Given the description of an element on the screen output the (x, y) to click on. 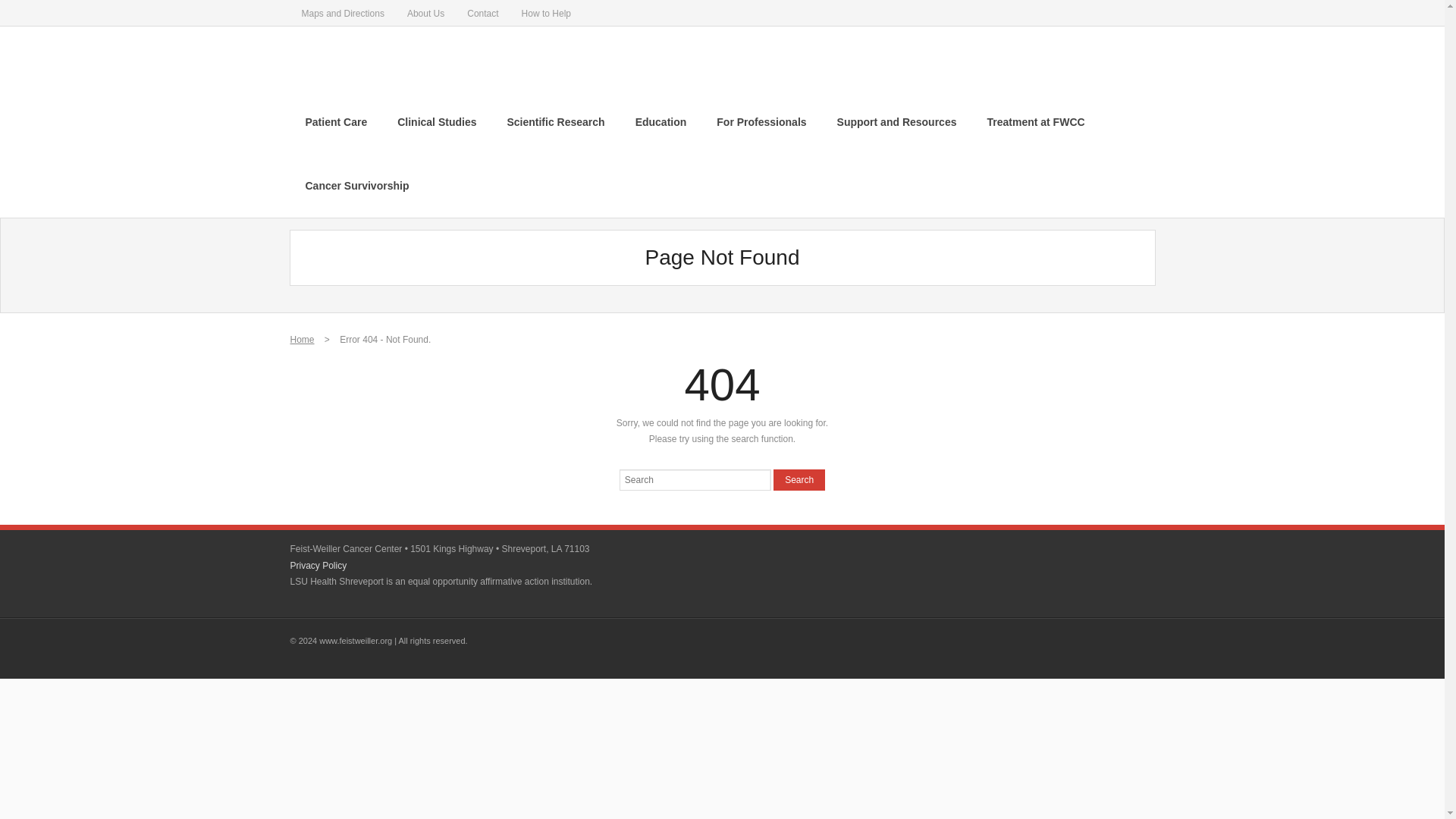
Search (799, 479)
Education (660, 121)
Support and Resources (897, 121)
How to Help (546, 12)
For Professionals (761, 121)
About Us (425, 12)
Treatment at FWCC (1035, 121)
Contact (482, 12)
Patient Care (335, 121)
Search (799, 479)
